Given the description of an element on the screen output the (x, y) to click on. 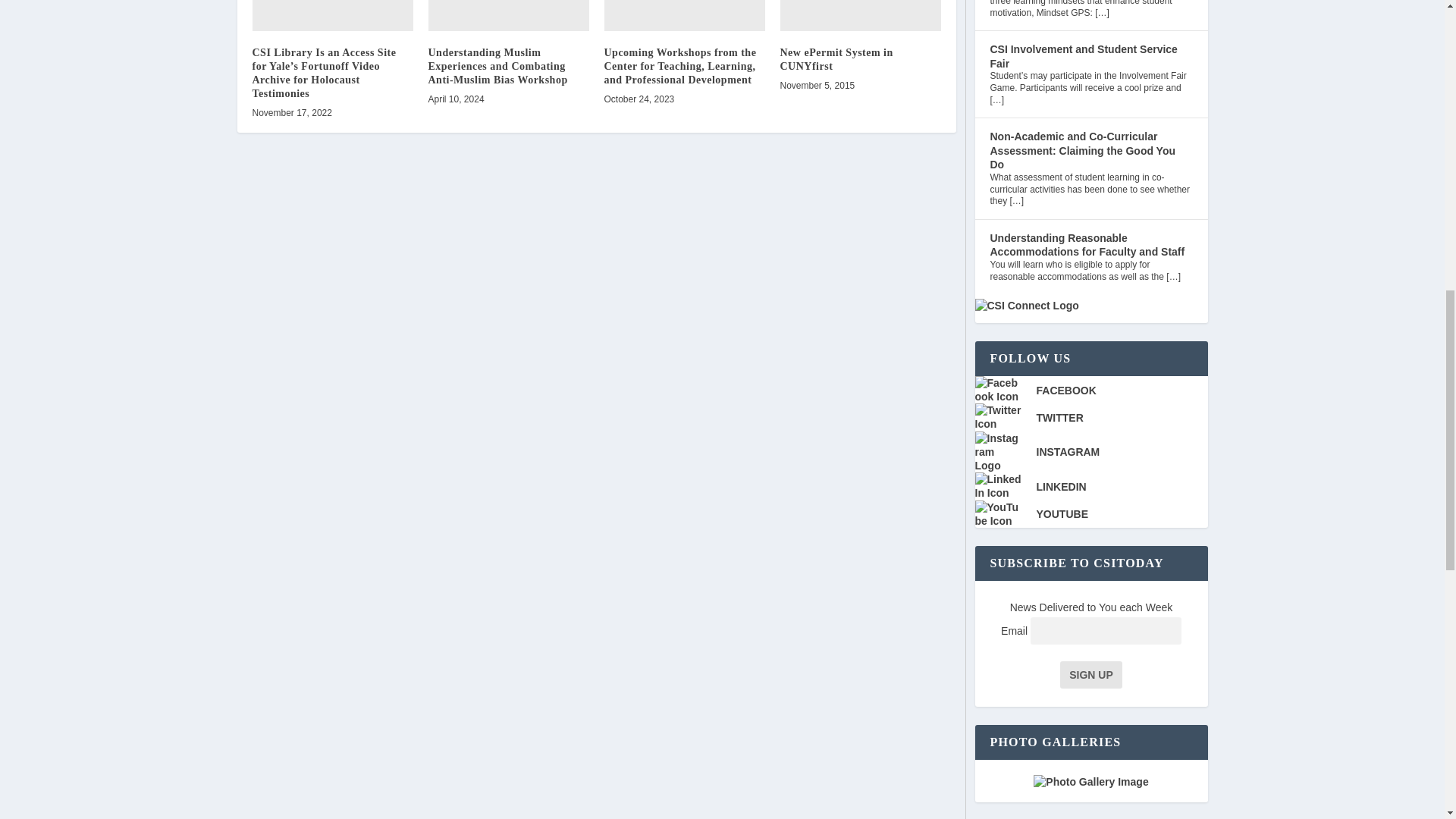
New ePermit System in CUNYfirst (835, 59)
New ePermit System in CUNYfirst (859, 15)
Sign up (1090, 674)
